Given the description of an element on the screen output the (x, y) to click on. 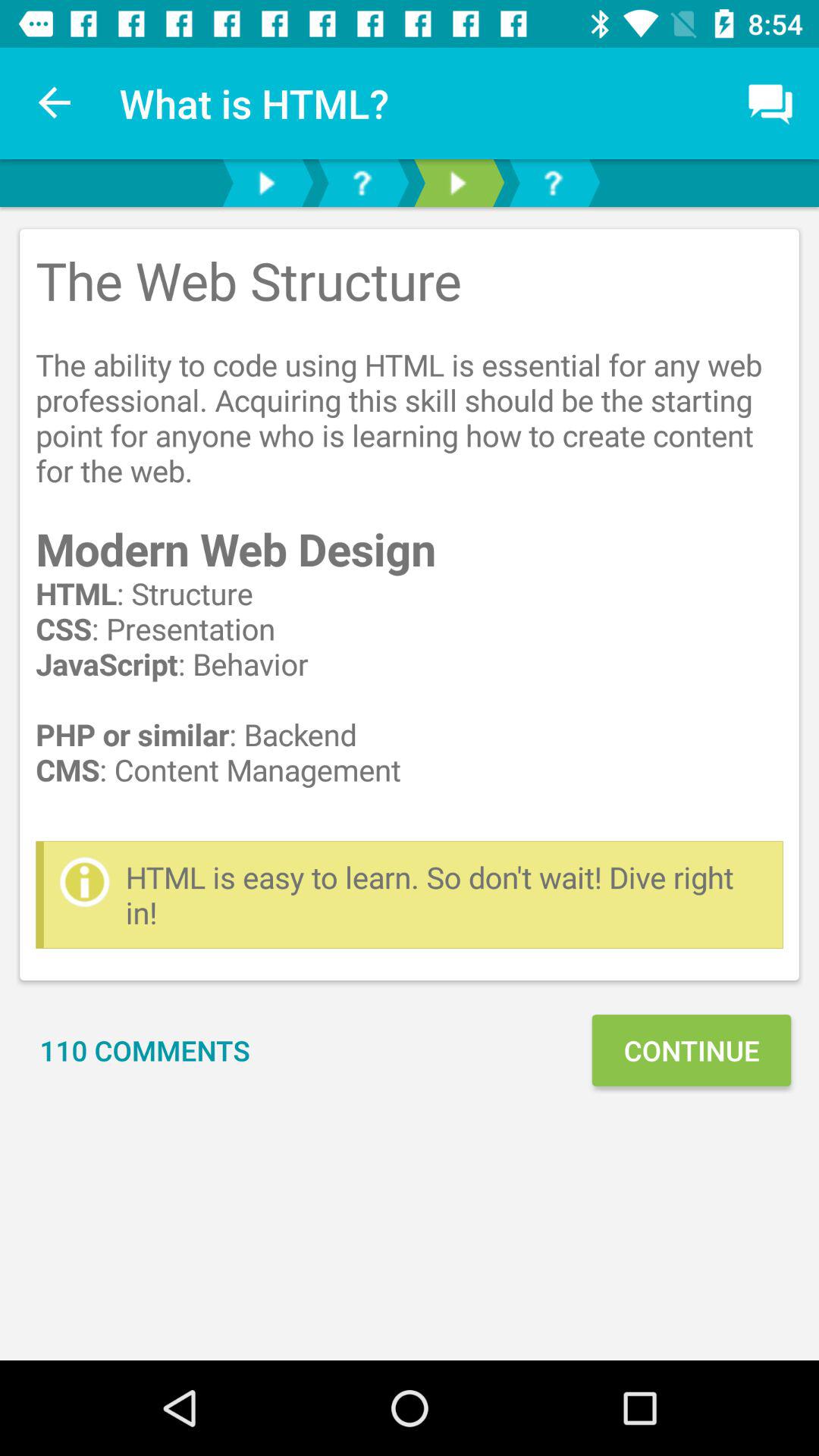
select icon above the web structure icon (55, 103)
